Given the description of an element on the screen output the (x, y) to click on. 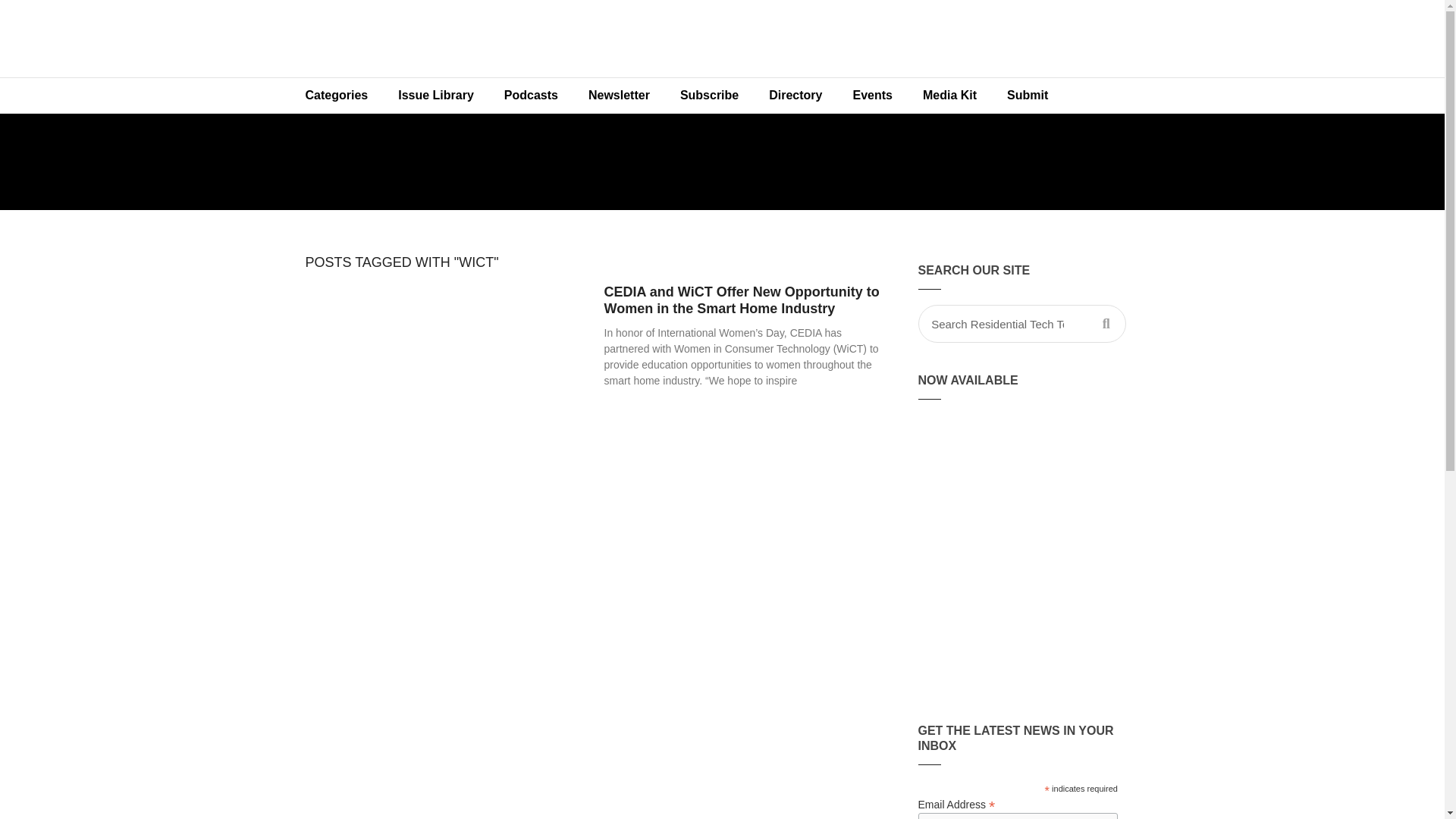
Events (872, 95)
Categories (335, 95)
Directory (795, 95)
Subscribe (709, 95)
Media Kit (949, 95)
Submit (1026, 95)
Issue Library (435, 95)
Newsletter (619, 95)
Podcasts (531, 95)
